Given the description of an element on the screen output the (x, y) to click on. 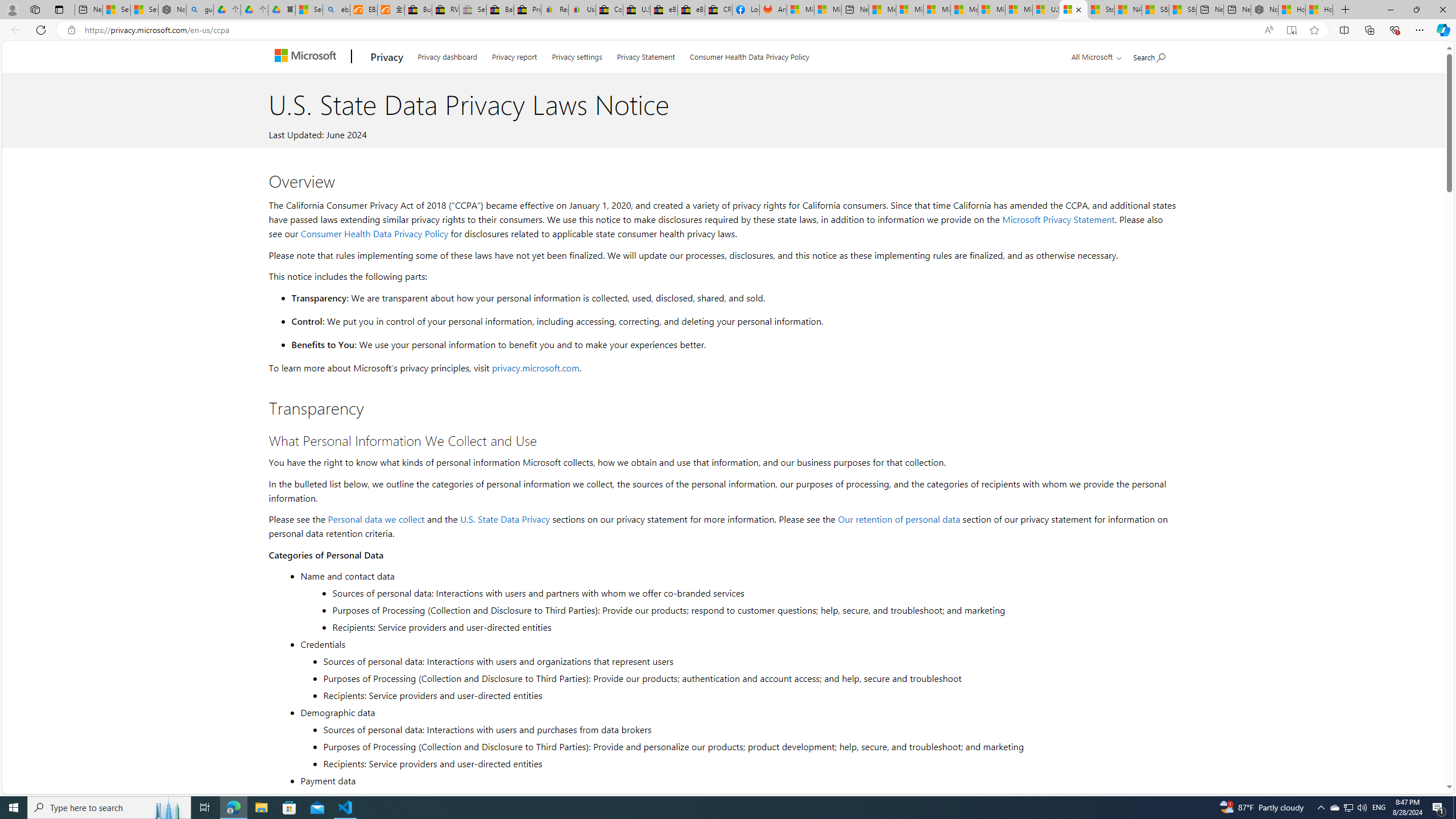
How to Use a Monitor With Your Closed Laptop (1319, 9)
privacy.microsoft.com (535, 367)
Microsoft account | Home (936, 9)
Privacy dashboard (447, 54)
guge yunpan - Search (200, 9)
U.S. State Privacy Disclosures - eBay Inc. (636, 9)
